Given the description of an element on the screen output the (x, y) to click on. 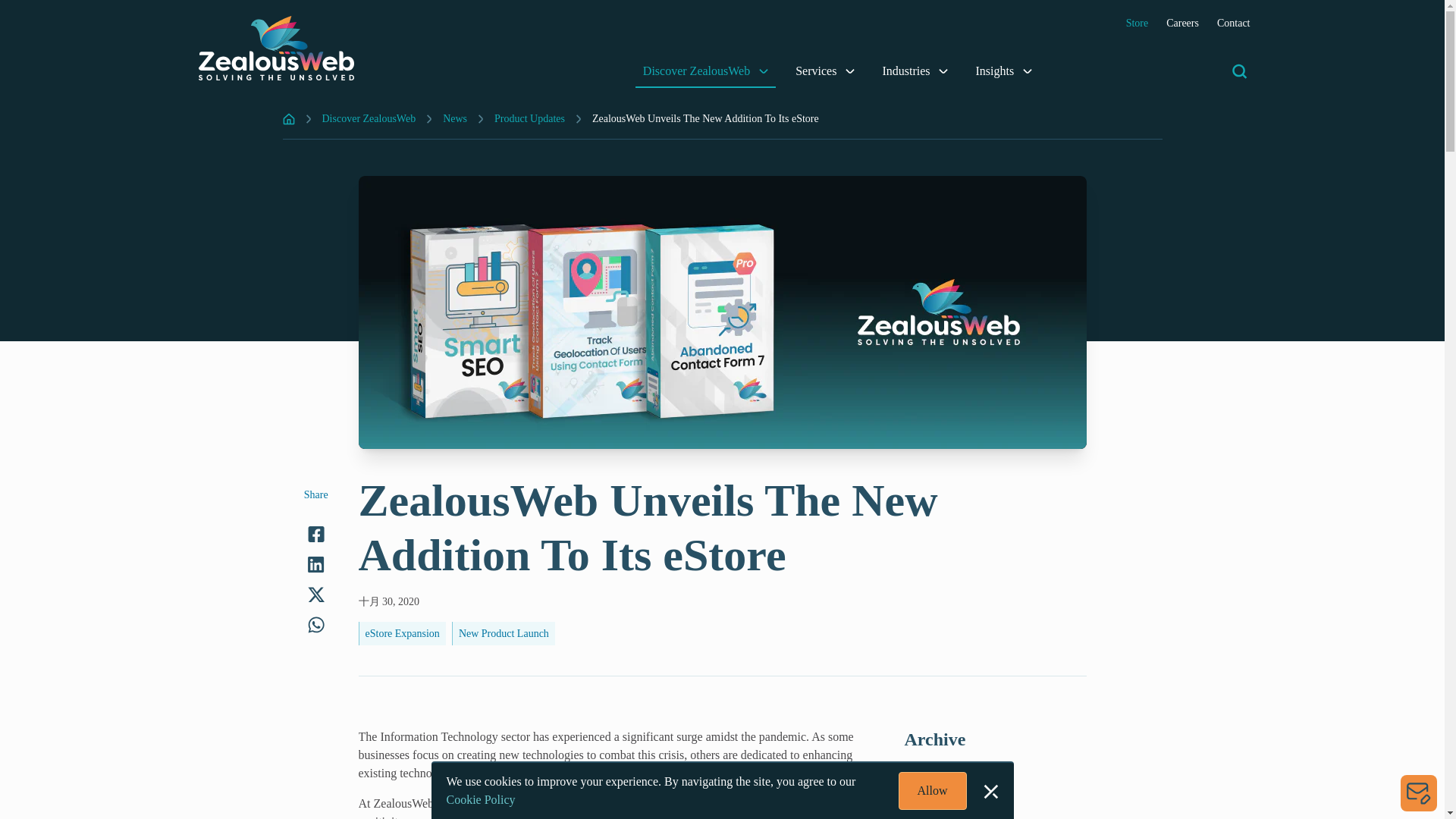
Contact (1233, 23)
Store (1136, 23)
Careers (1182, 23)
